Given the description of an element on the screen output the (x, y) to click on. 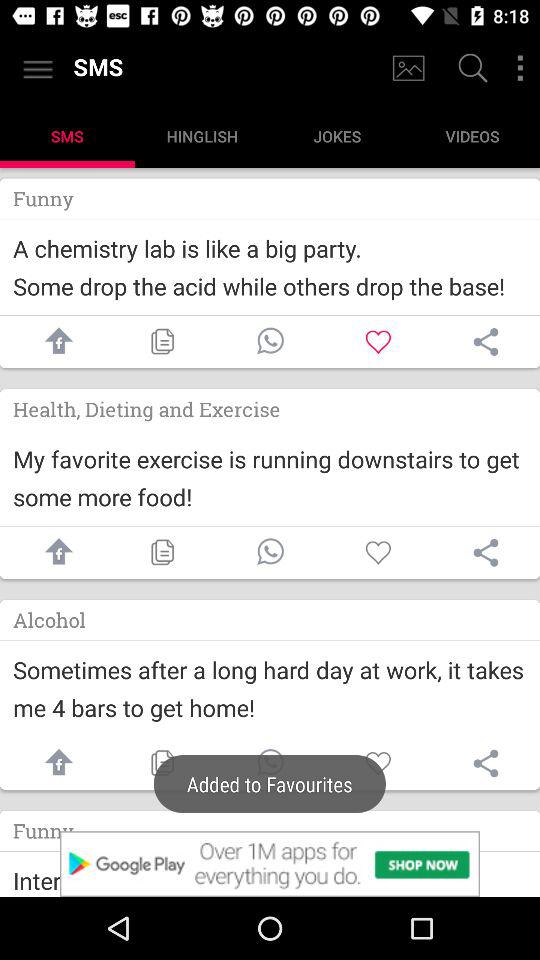
share the article (486, 341)
